Given the description of an element on the screen output the (x, y) to click on. 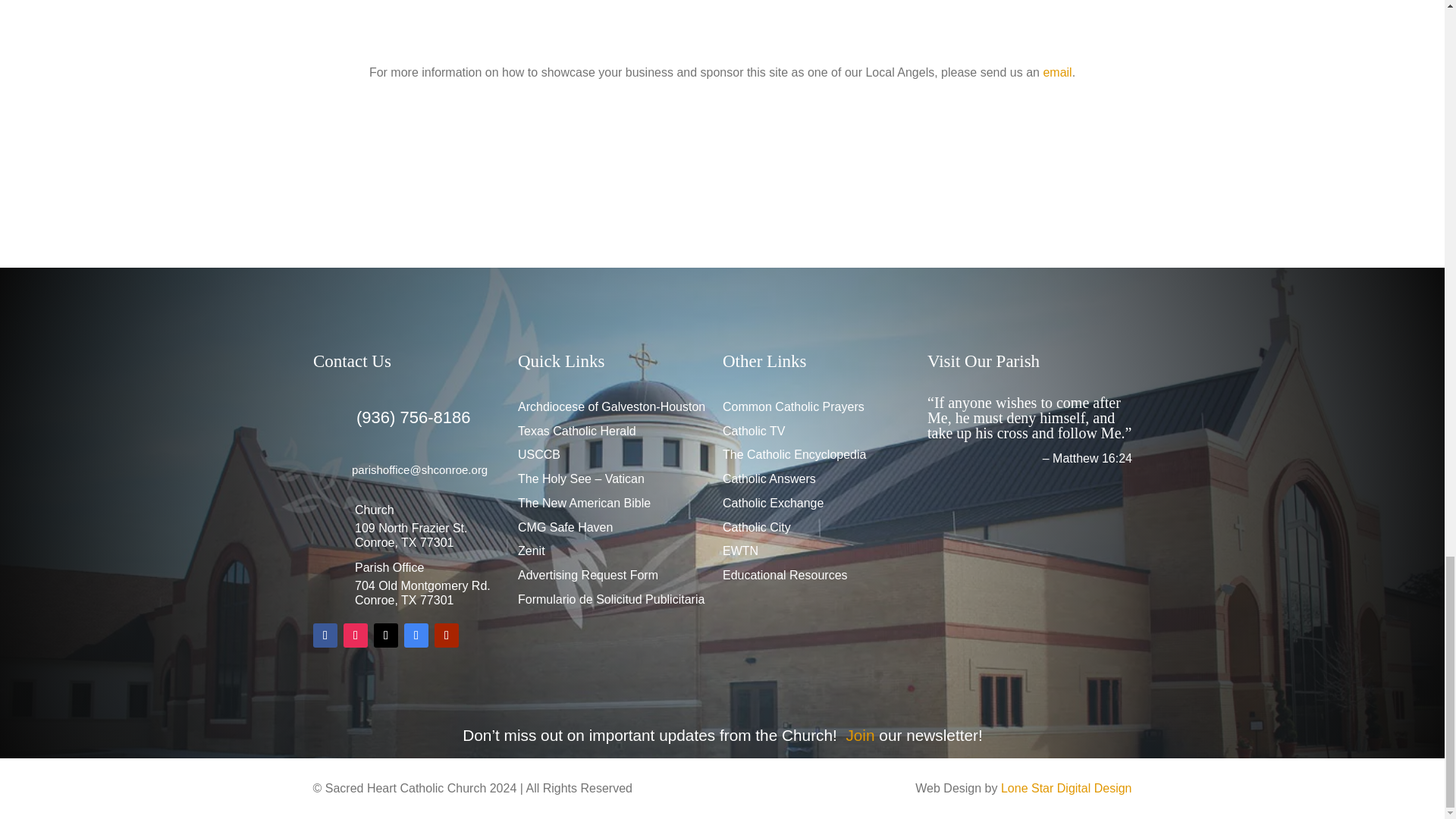
Steve Eggert, Financial Advisor Logo (832, 165)
Follow on Facebook (324, 635)
Support our Local Angels (721, 31)
Authentic Brain Solutions Logo (611, 165)
Follow on Instagram (354, 635)
Sergio's Landscaping Logo (390, 170)
